Given the description of an element on the screen output the (x, y) to click on. 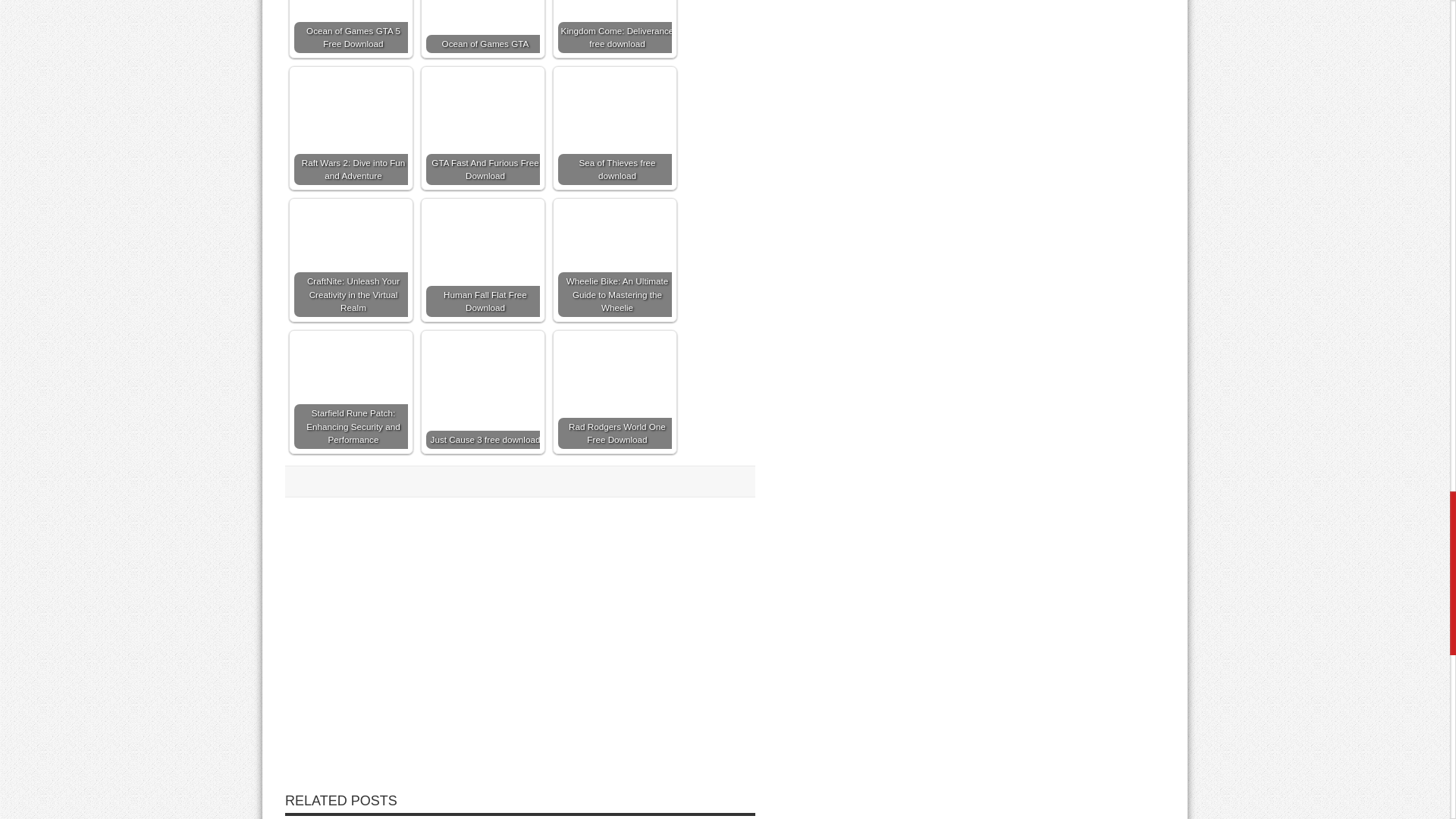
CraftNite: Unleash Your Creativity in the Virtual Realm (350, 259)
Sea of Thieves free download (614, 128)
Sea of Thieves free download (614, 99)
Human Fall Flat Free Download (483, 259)
CraftNite: Unleash Your Creativity in the Virtual Realm (350, 259)
Rad Rodgers World One Free Download (614, 366)
Kingdom Come: Deliverance free download (614, 26)
GTA Fast And Furious Free Download (483, 128)
Raft Wars 2: Dive into Fun and Adventure (350, 128)
Ocean of Games GTA 5 Free Download (350, 26)
